Given the description of an element on the screen output the (x, y) to click on. 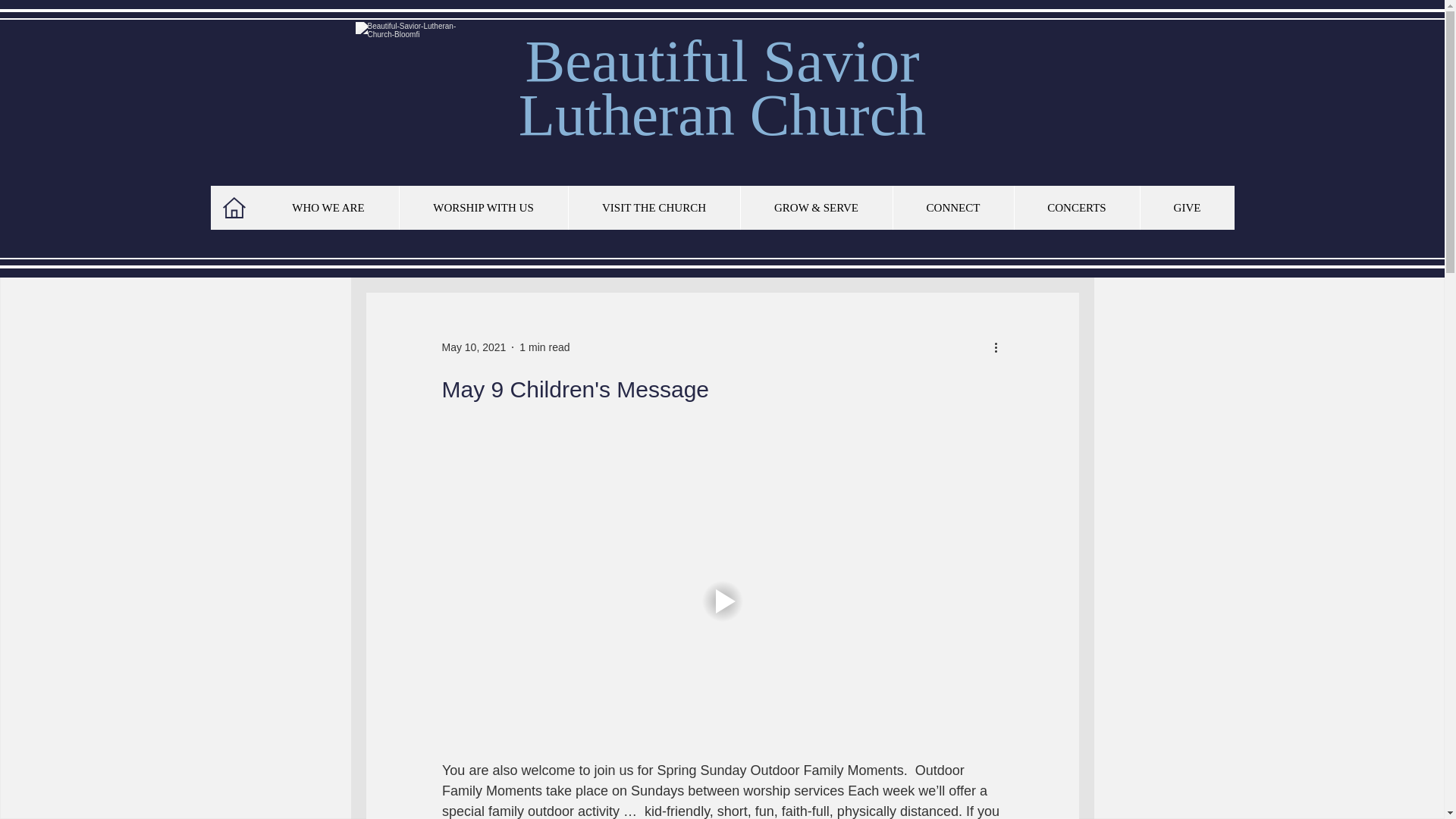
1 min read (544, 346)
CONCERTS (1075, 207)
VISIT THE CHURCH (653, 207)
May 10, 2021 (473, 346)
WORSHIP WITH US (719, 87)
hurch (482, 207)
WHO WE ARE (857, 114)
CONNECT (327, 207)
GIVE (952, 207)
